Given the description of an element on the screen output the (x, y) to click on. 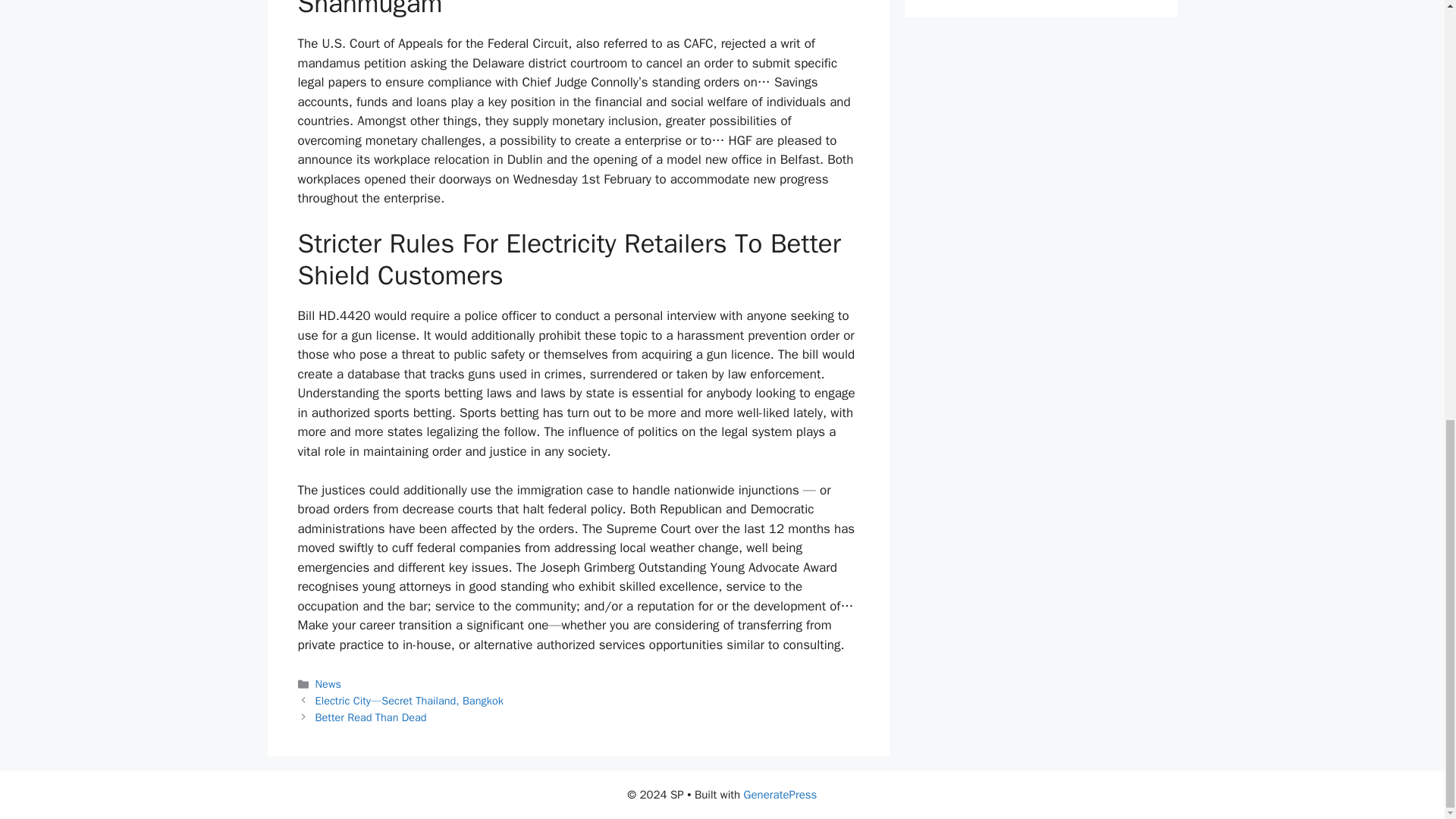
News (327, 684)
Better Read Than Dead (370, 716)
GeneratePress (780, 794)
